Given the description of an element on the screen output the (x, y) to click on. 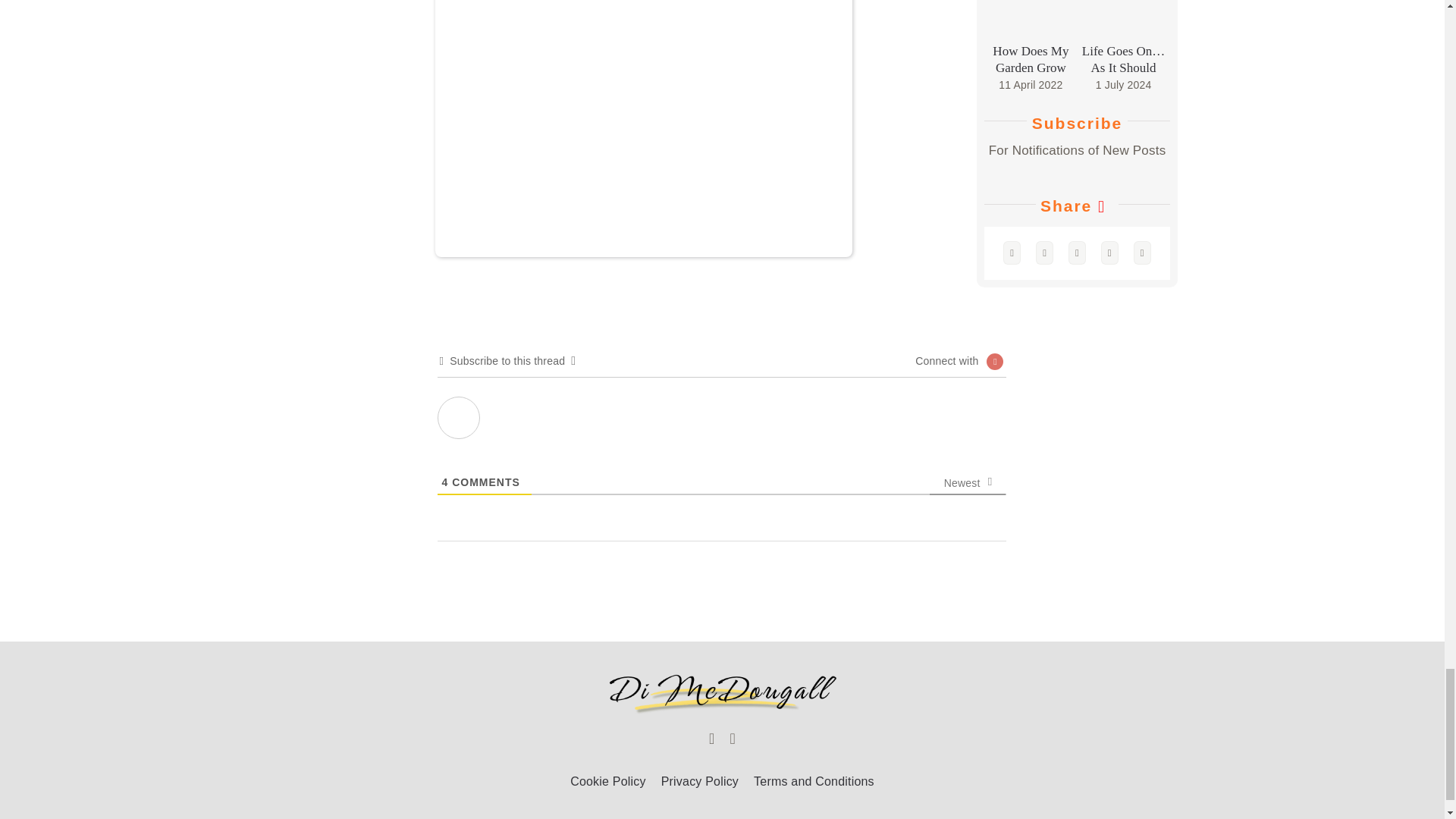
Terms and Conditions (814, 782)
Where I Live (459, 416)
mist (643, 128)
Privacy Policy (699, 782)
Cookie Policy (608, 782)
